Given the description of an element on the screen output the (x, y) to click on. 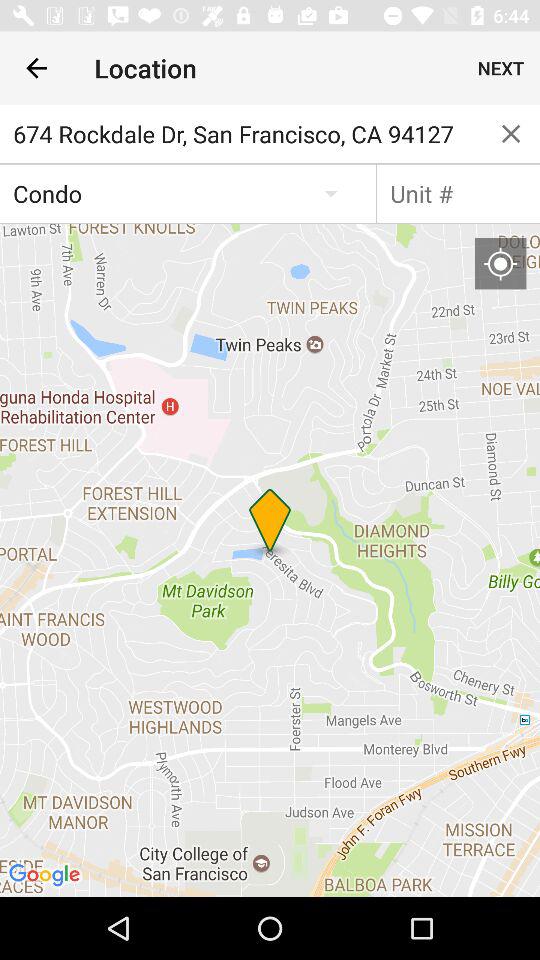
turn on the next icon (500, 67)
